Given the description of an element on the screen output the (x, y) to click on. 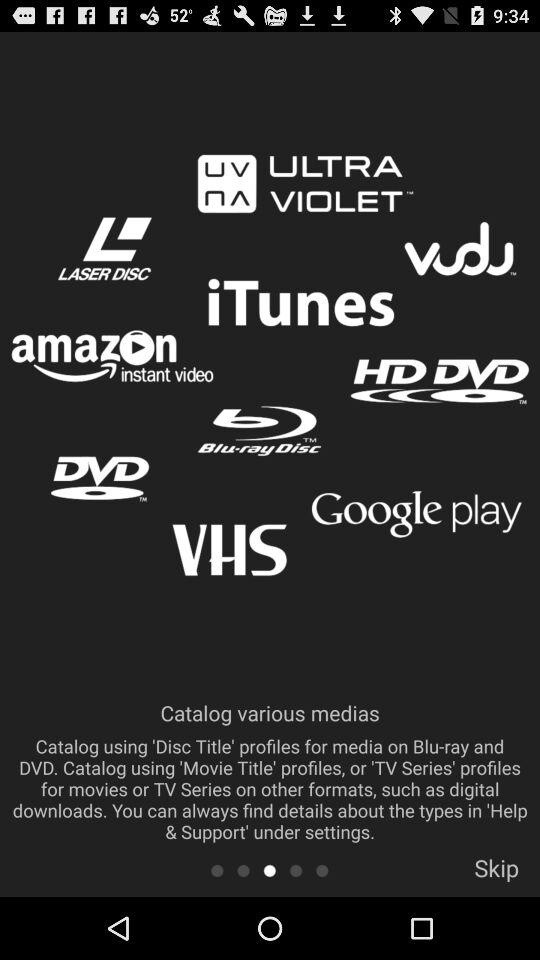
page (269, 870)
